Given the description of an element on the screen output the (x, y) to click on. 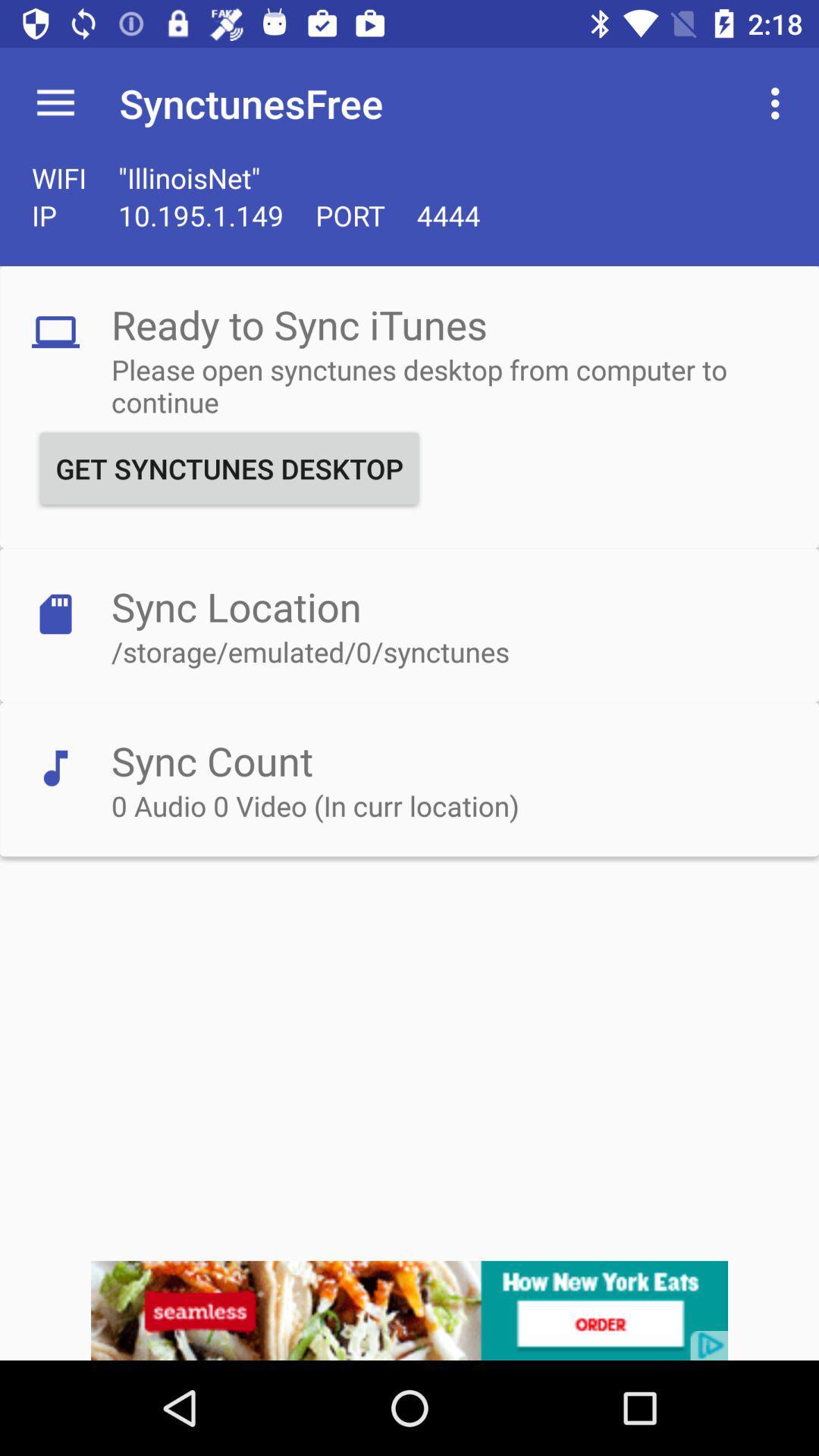
open advertisement (409, 1310)
